Given the description of an element on the screen output the (x, y) to click on. 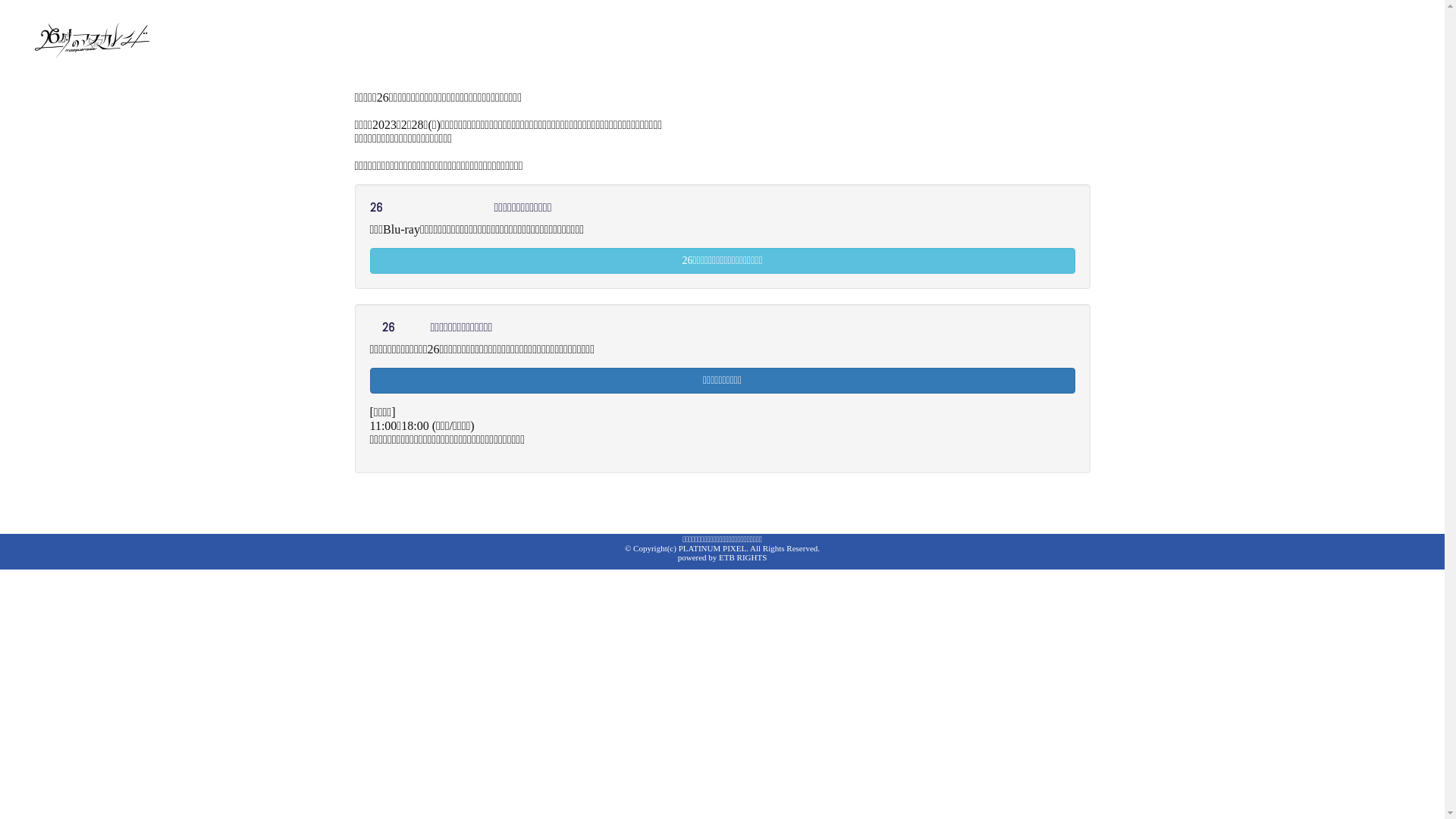
ETB RIGHTS Element type: text (742, 556)
